Given the description of an element on the screen output the (x, y) to click on. 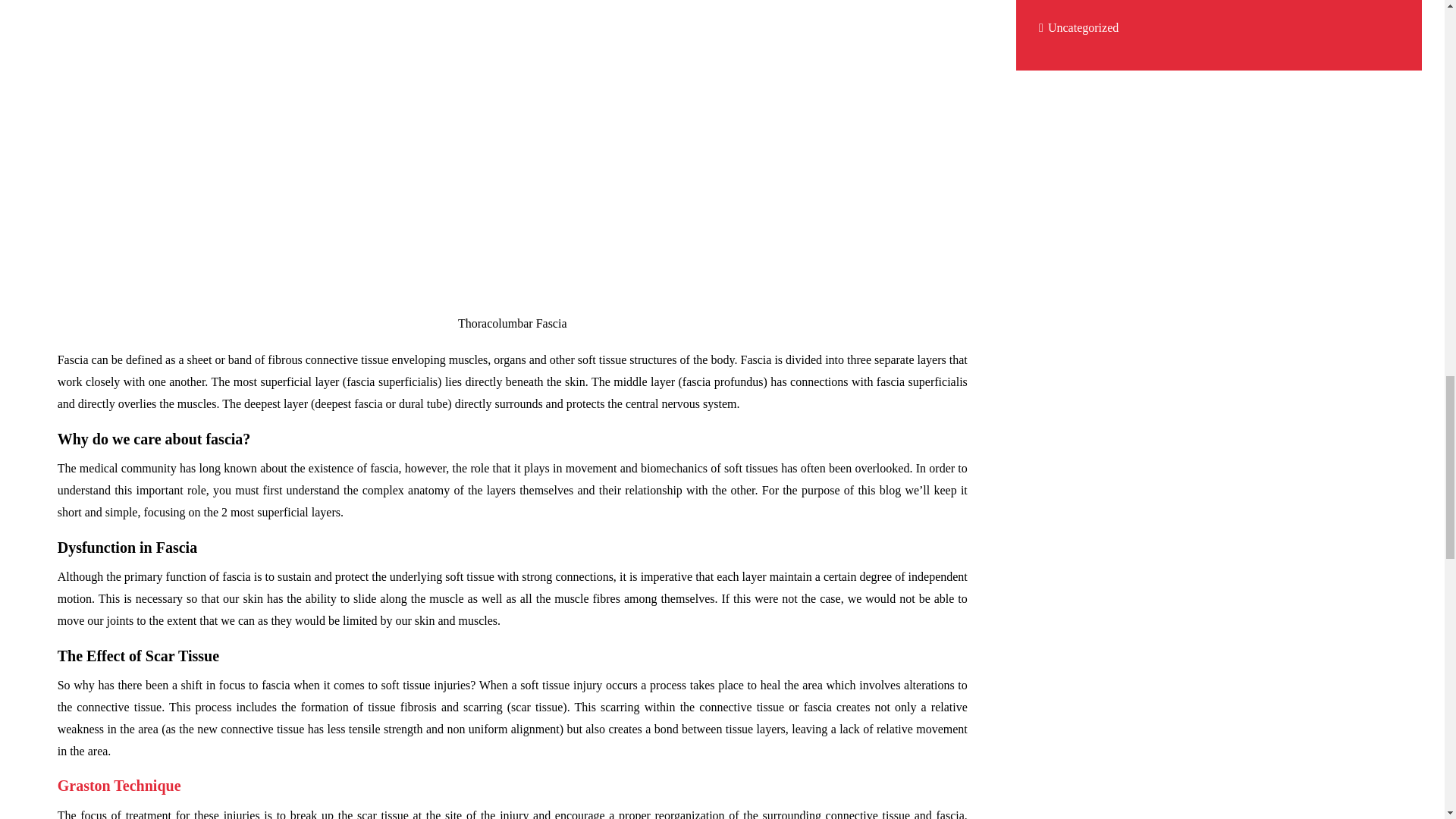
Graston Technique (119, 785)
Graston (119, 785)
